Given the description of an element on the screen output the (x, y) to click on. 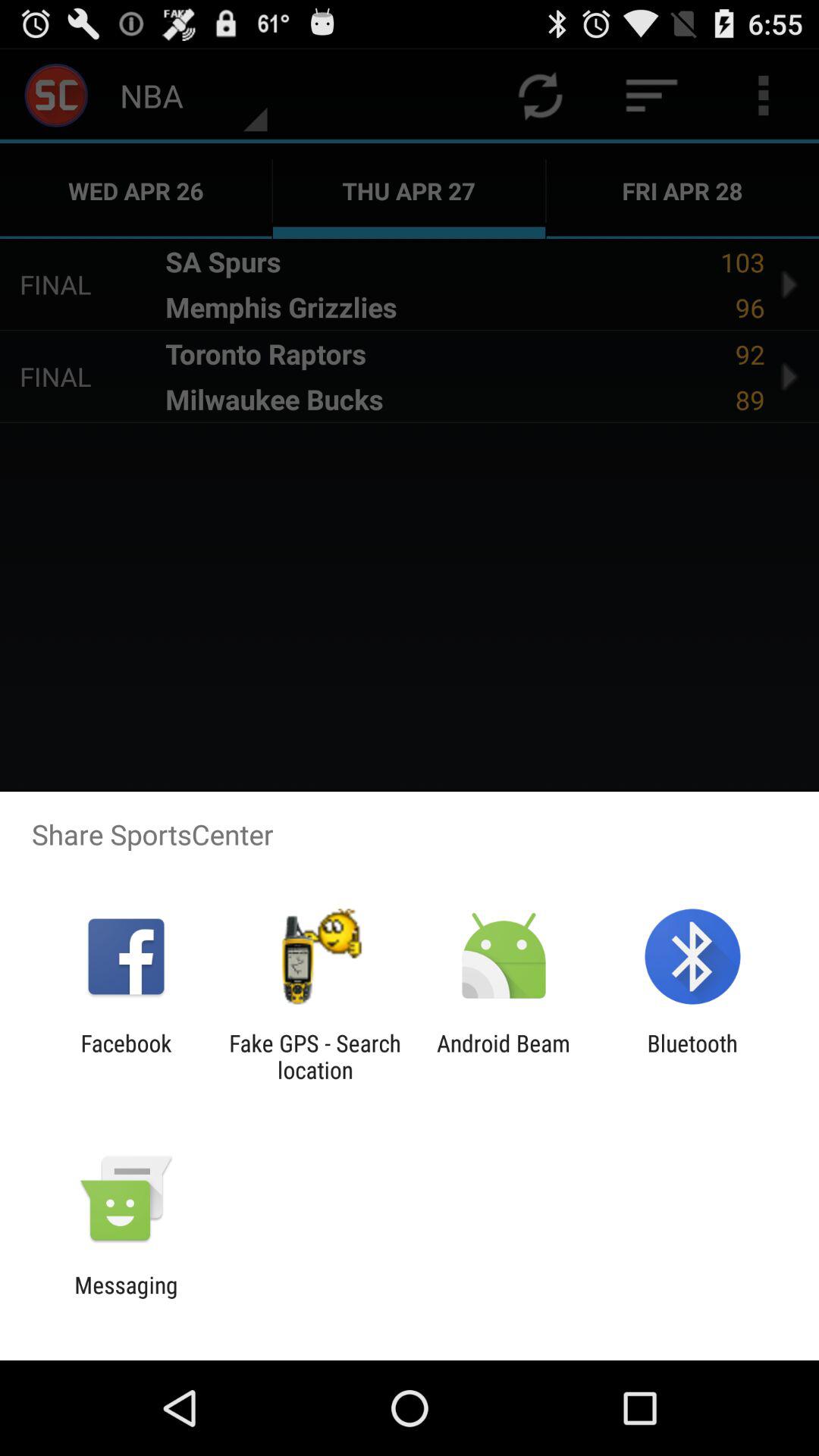
click the icon at the bottom right corner (692, 1056)
